Given the description of an element on the screen output the (x, y) to click on. 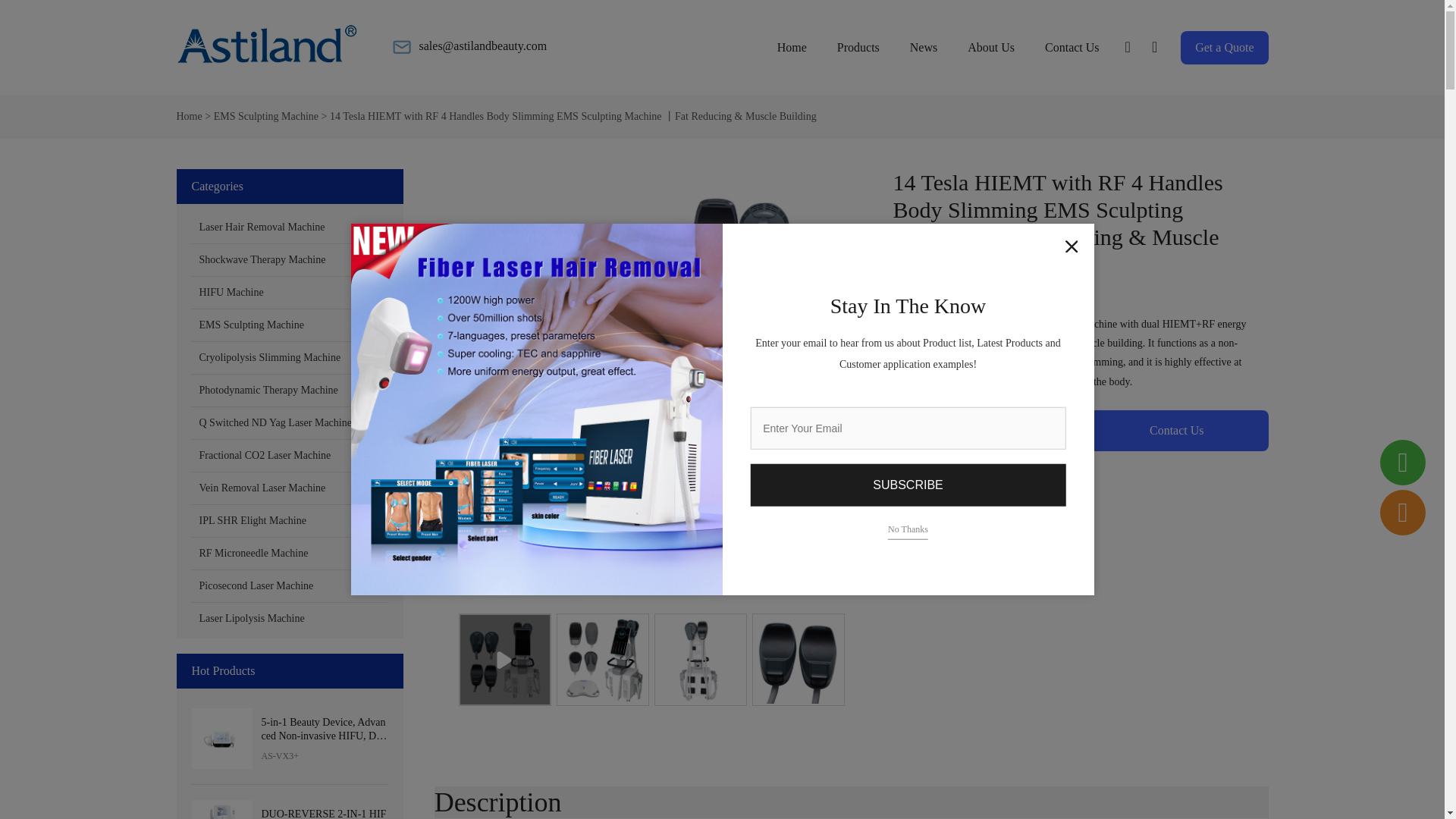
No Thanks (908, 528)
SUBSCRIBE (907, 485)
close (1070, 245)
No Thanks (908, 528)
